Given the description of an element on the screen output the (x, y) to click on. 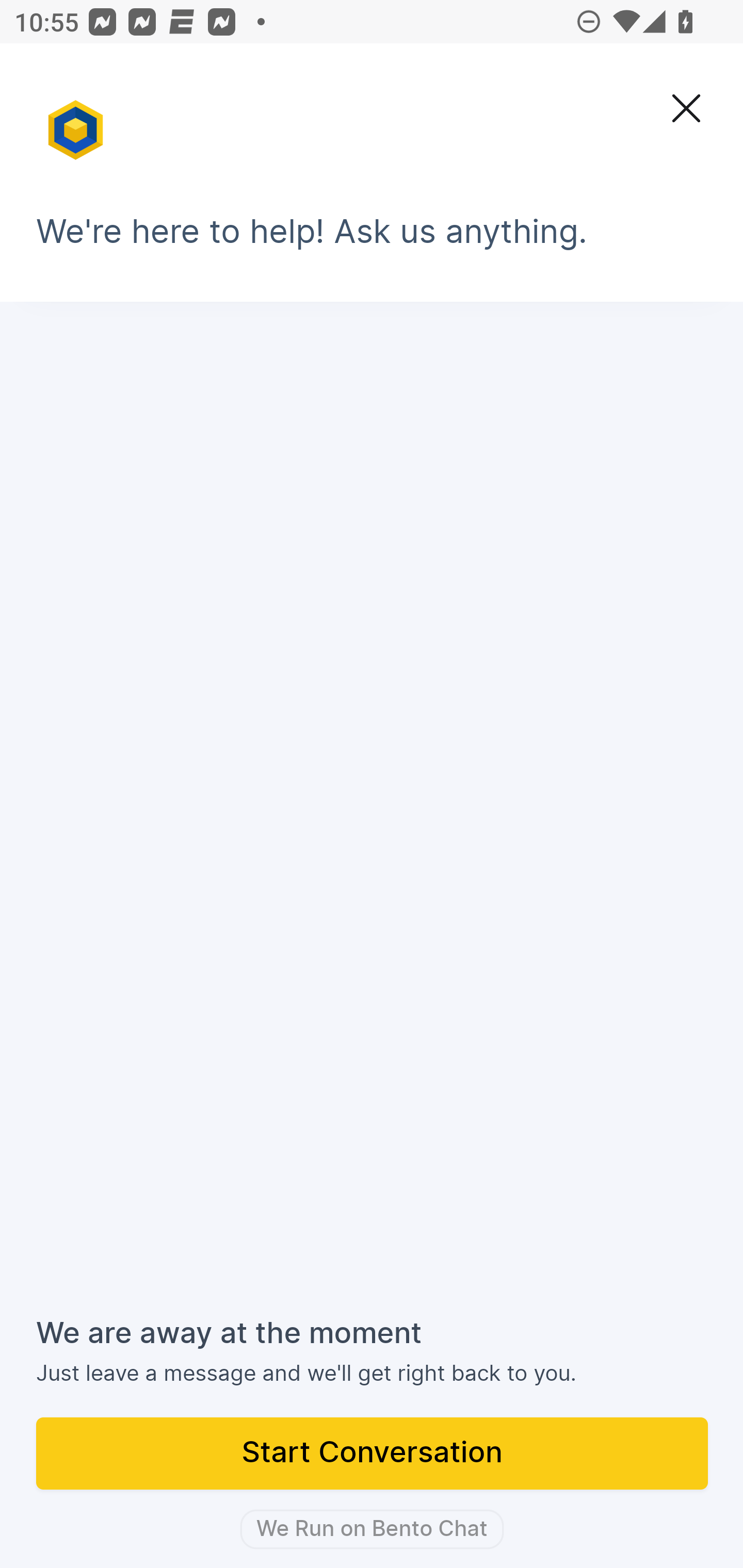
LUMI-ID-Avatar_Transparent-640w (77, 120)
Start Conversation (372, 1454)
We Run on Bento Chat (371, 1529)
